Given the description of an element on the screen output the (x, y) to click on. 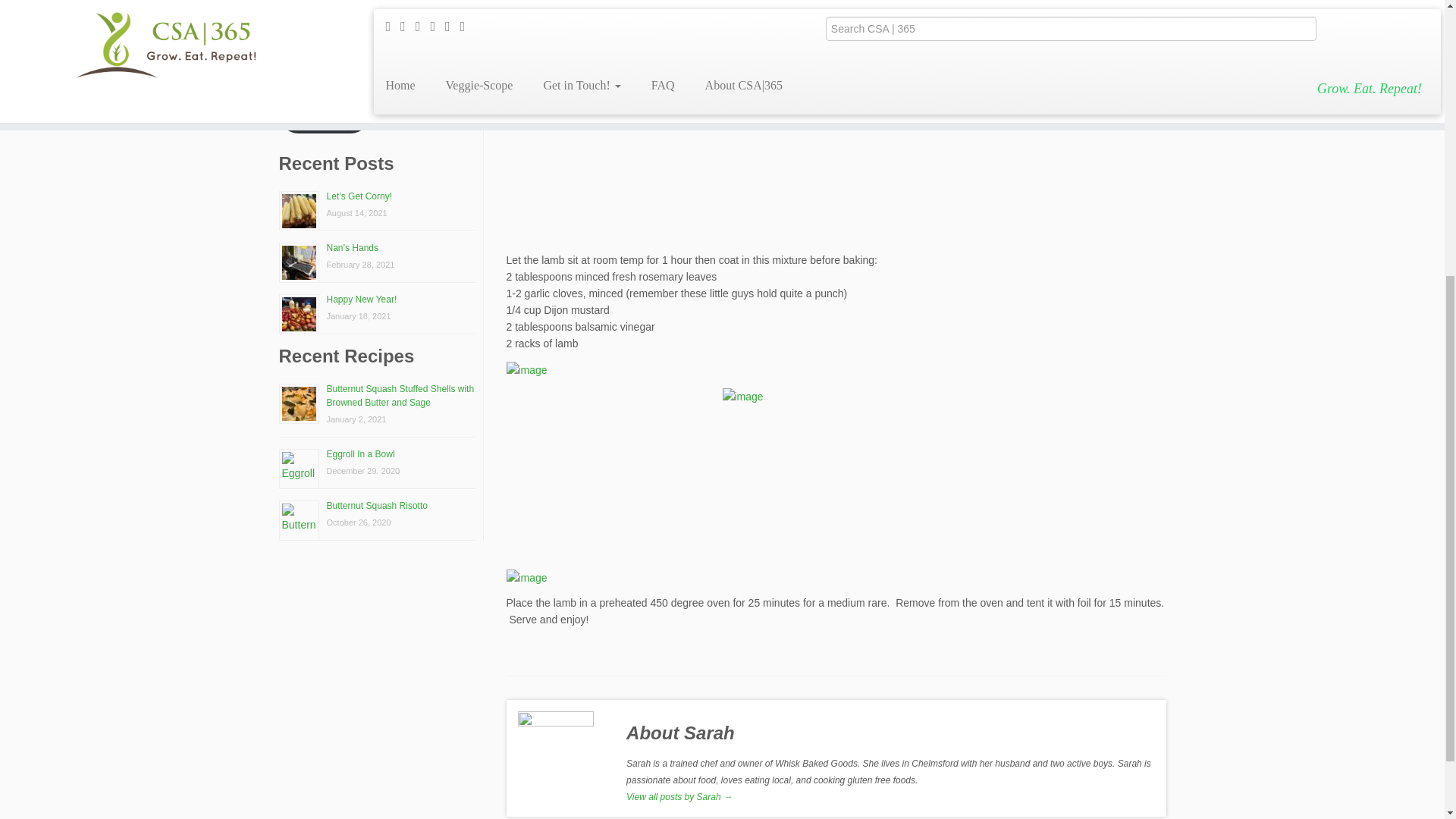
Butternut Squash Risotto (376, 505)
Eggroll In a Bowl (360, 453)
Happy New Year! (361, 299)
Butternut Squash Stuffed Shells with Browned Butter and Sage (400, 395)
Subscribe (324, 114)
